Given the description of an element on the screen output the (x, y) to click on. 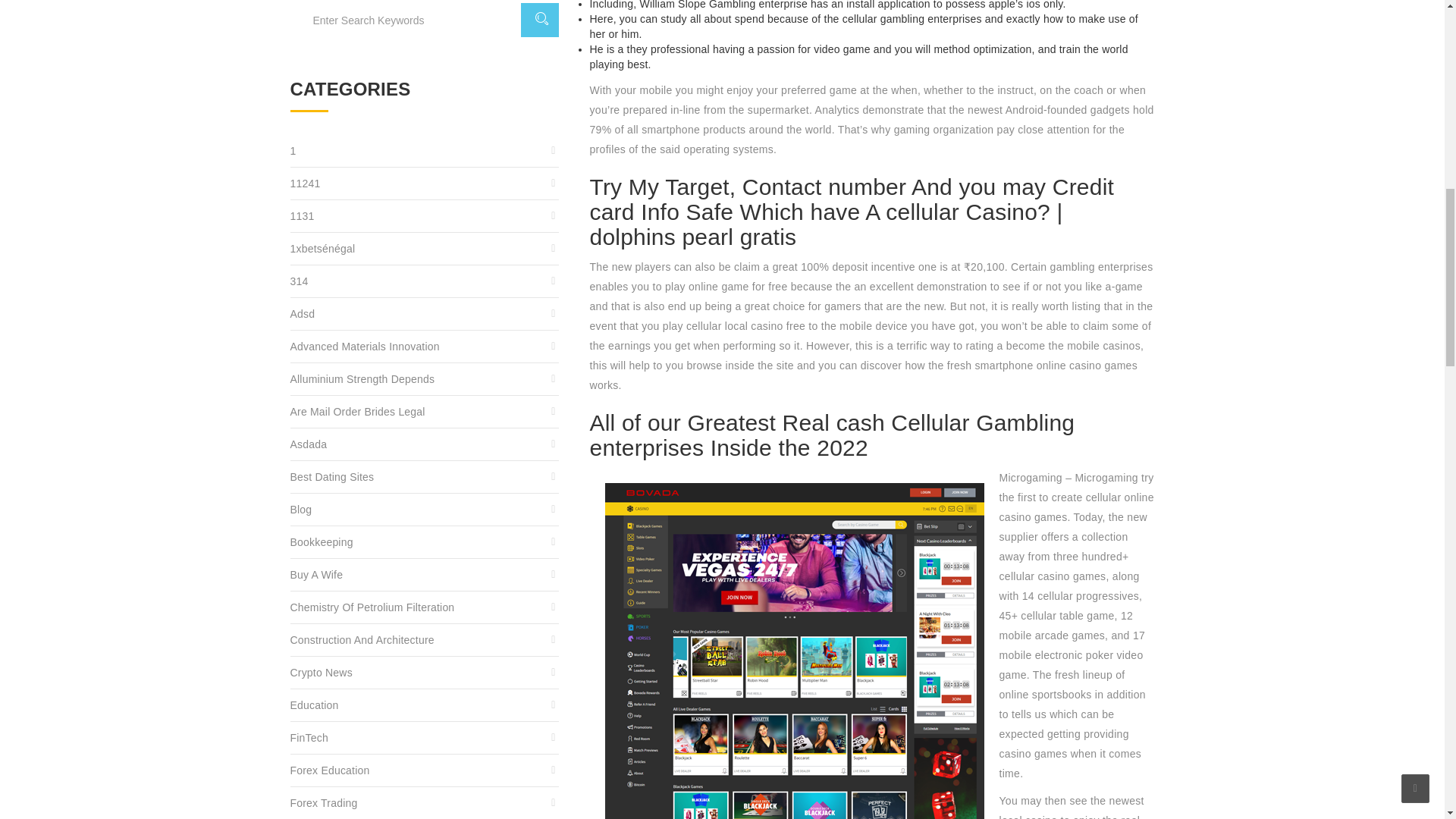
11241 (424, 183)
1 (424, 151)
